Given the description of an element on the screen output the (x, y) to click on. 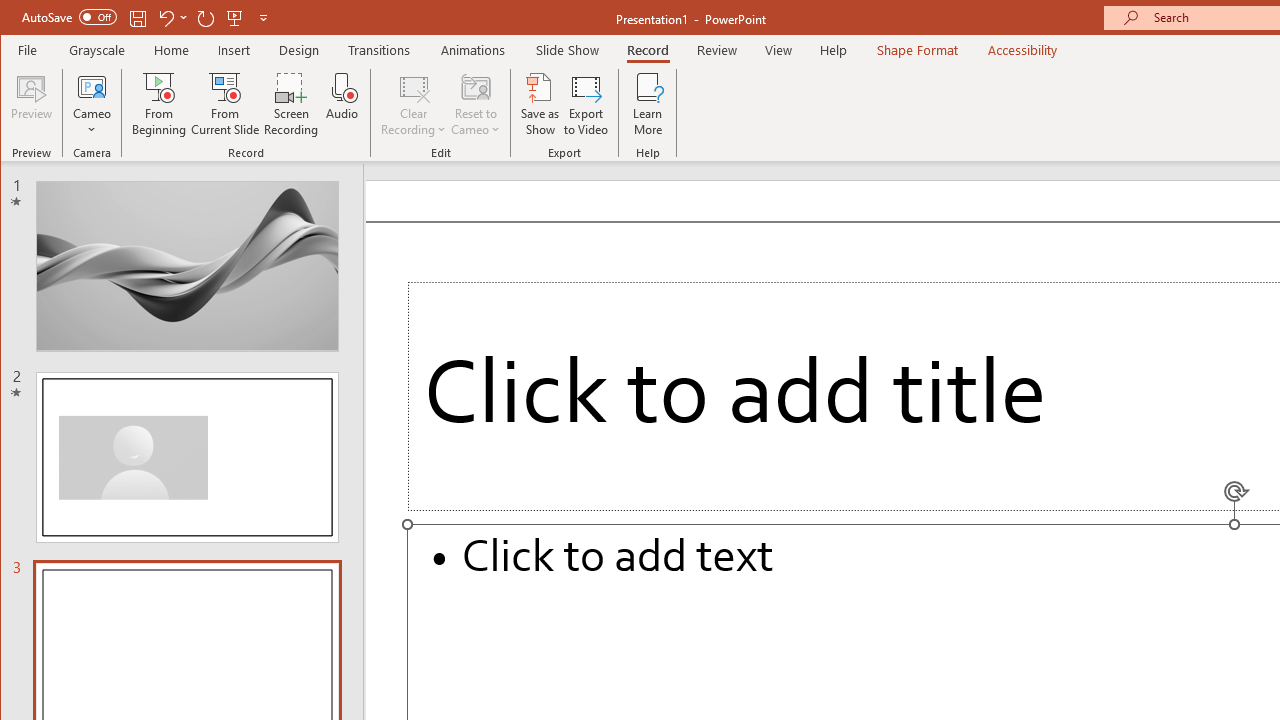
Learn More (648, 104)
Audio (342, 104)
